Given the description of an element on the screen output the (x, y) to click on. 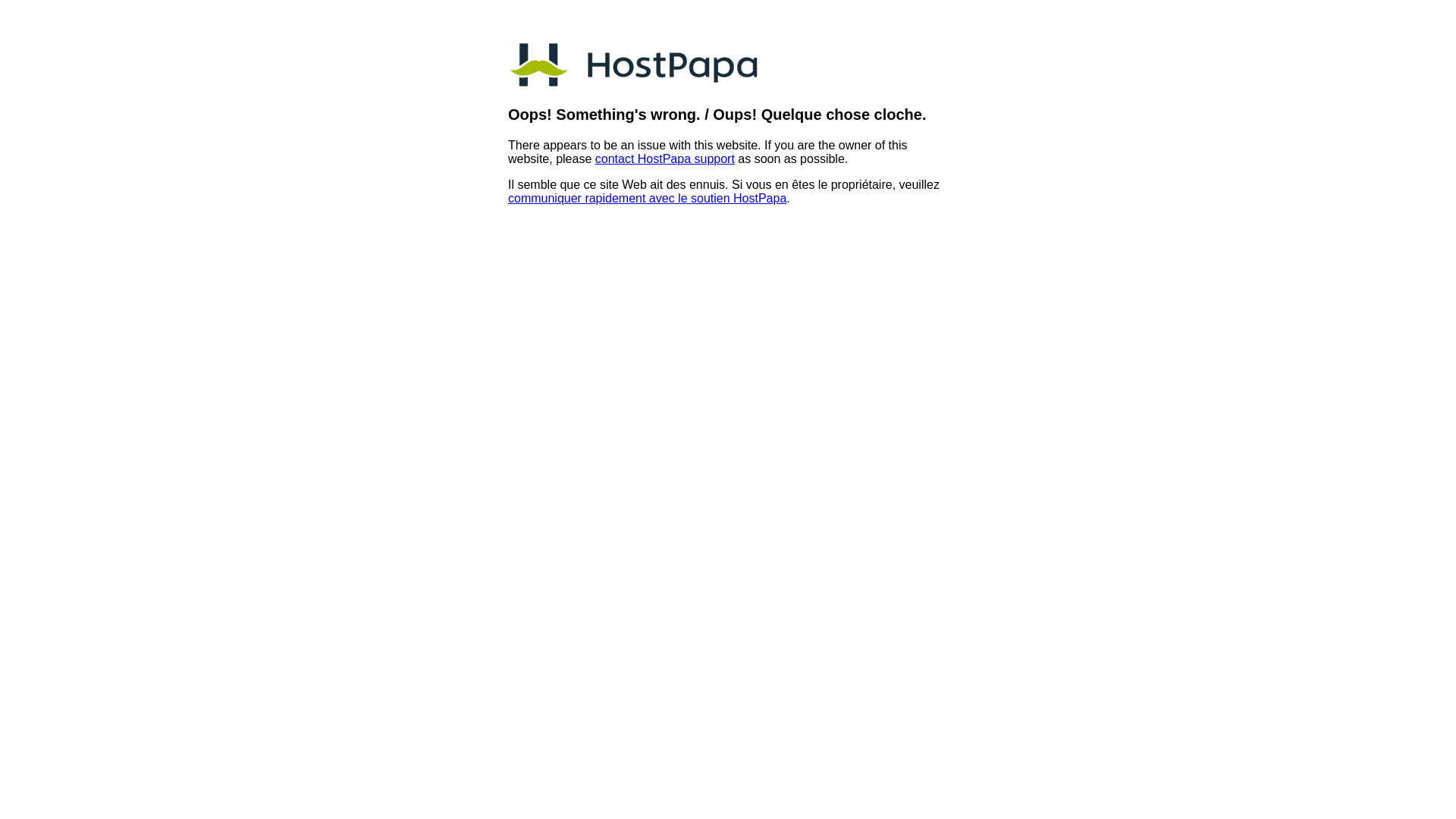
communiquer rapidement avec le soutien HostPapa Element type: text (647, 197)
contact HostPapa support Element type: text (664, 158)
